Given the description of an element on the screen output the (x, y) to click on. 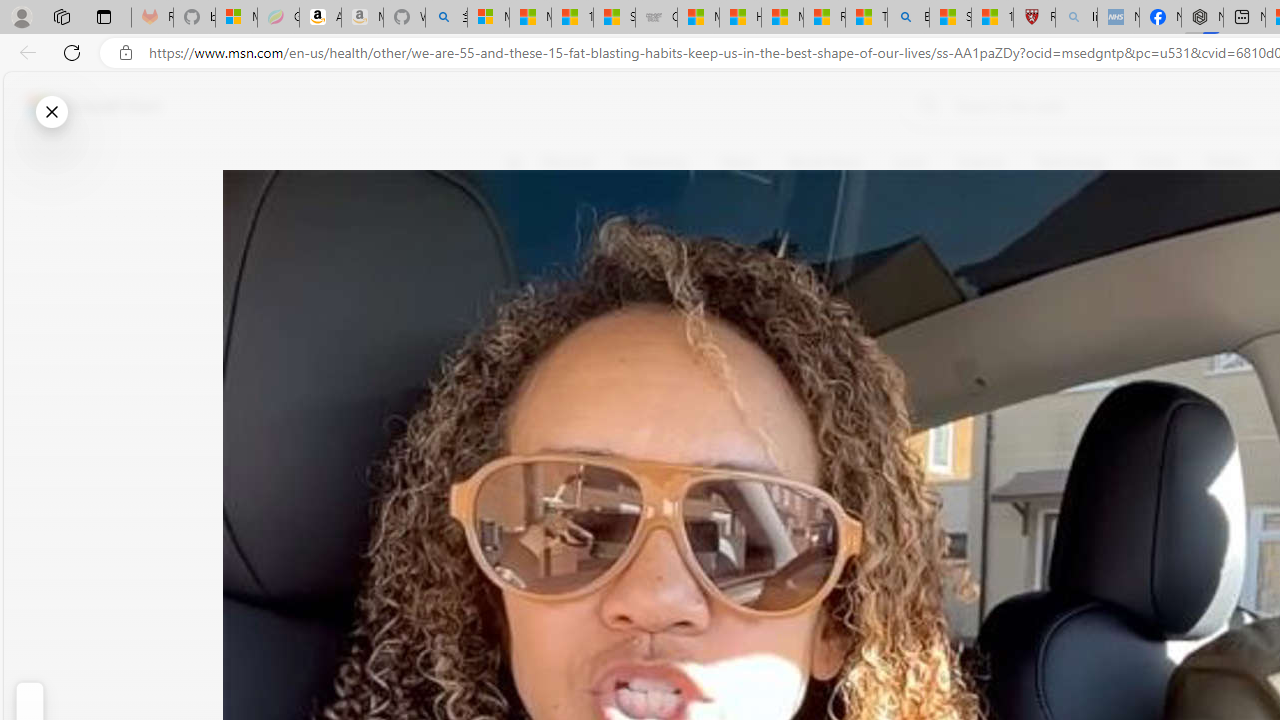
News (738, 162)
Nordace - Nordace Siena Is Not An Ordinary Backpack (1201, 17)
Microsoft-Report a Concern to Bing (236, 17)
6 Like (525, 244)
Dislike (525, 300)
World News (824, 162)
Science - MSN (950, 17)
Local (909, 162)
Follow (909, 258)
Skip to content (86, 105)
Local (910, 162)
